Given the description of an element on the screen output the (x, y) to click on. 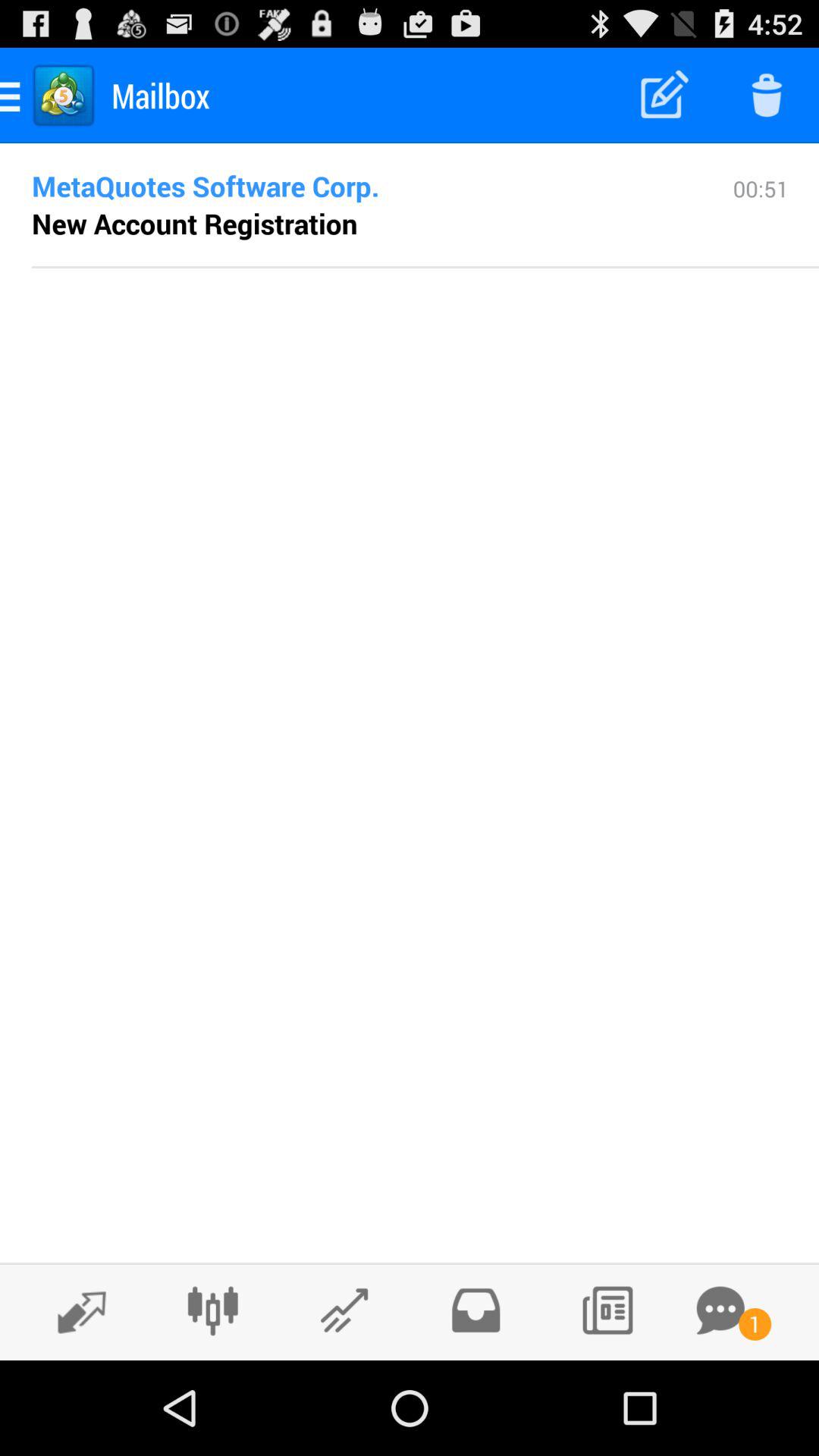
click the icon next to 00:51 (358, 185)
